Given the description of an element on the screen output the (x, y) to click on. 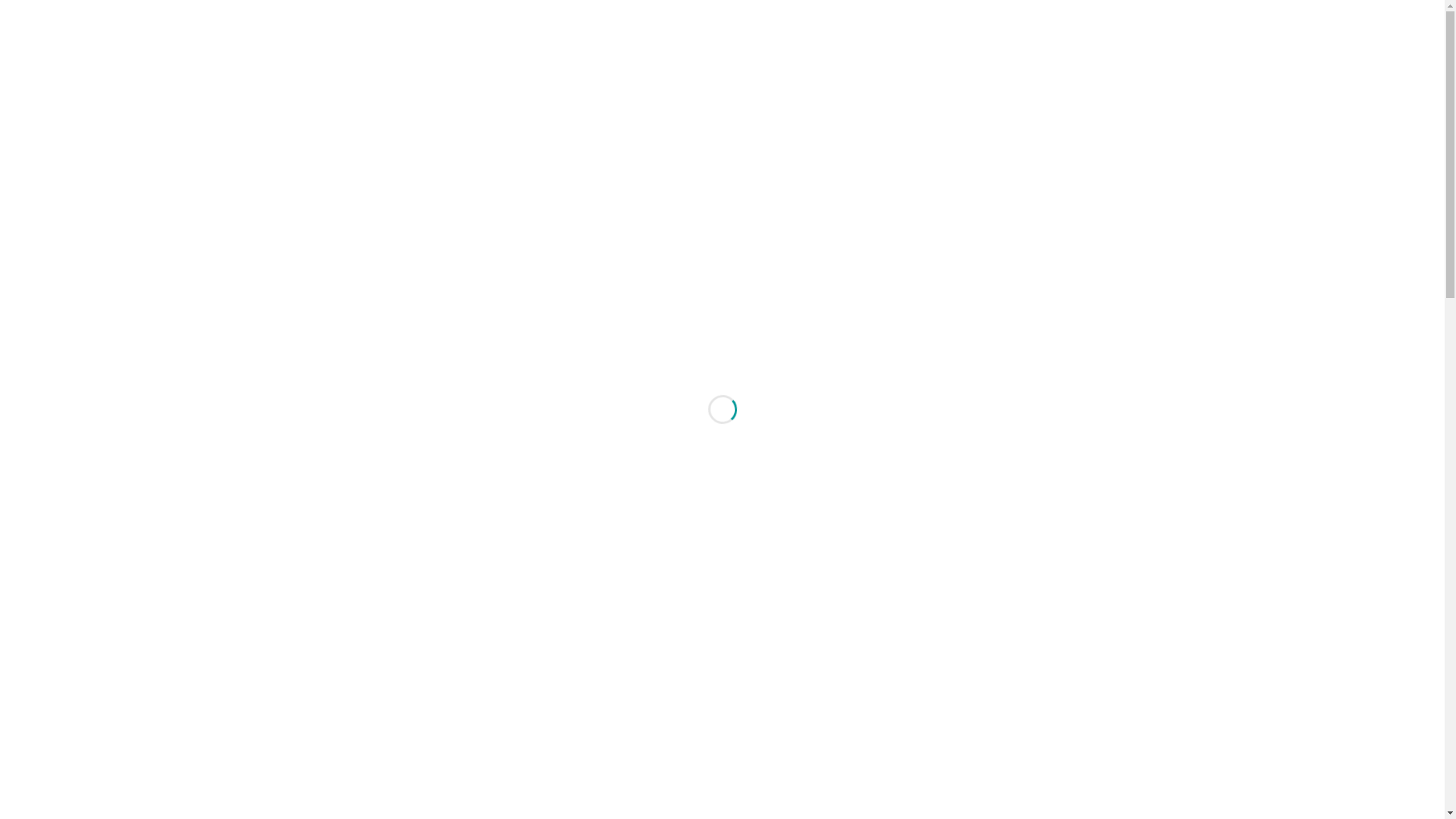
Contact Element type: text (1157, 72)
